Given the description of an element on the screen output the (x, y) to click on. 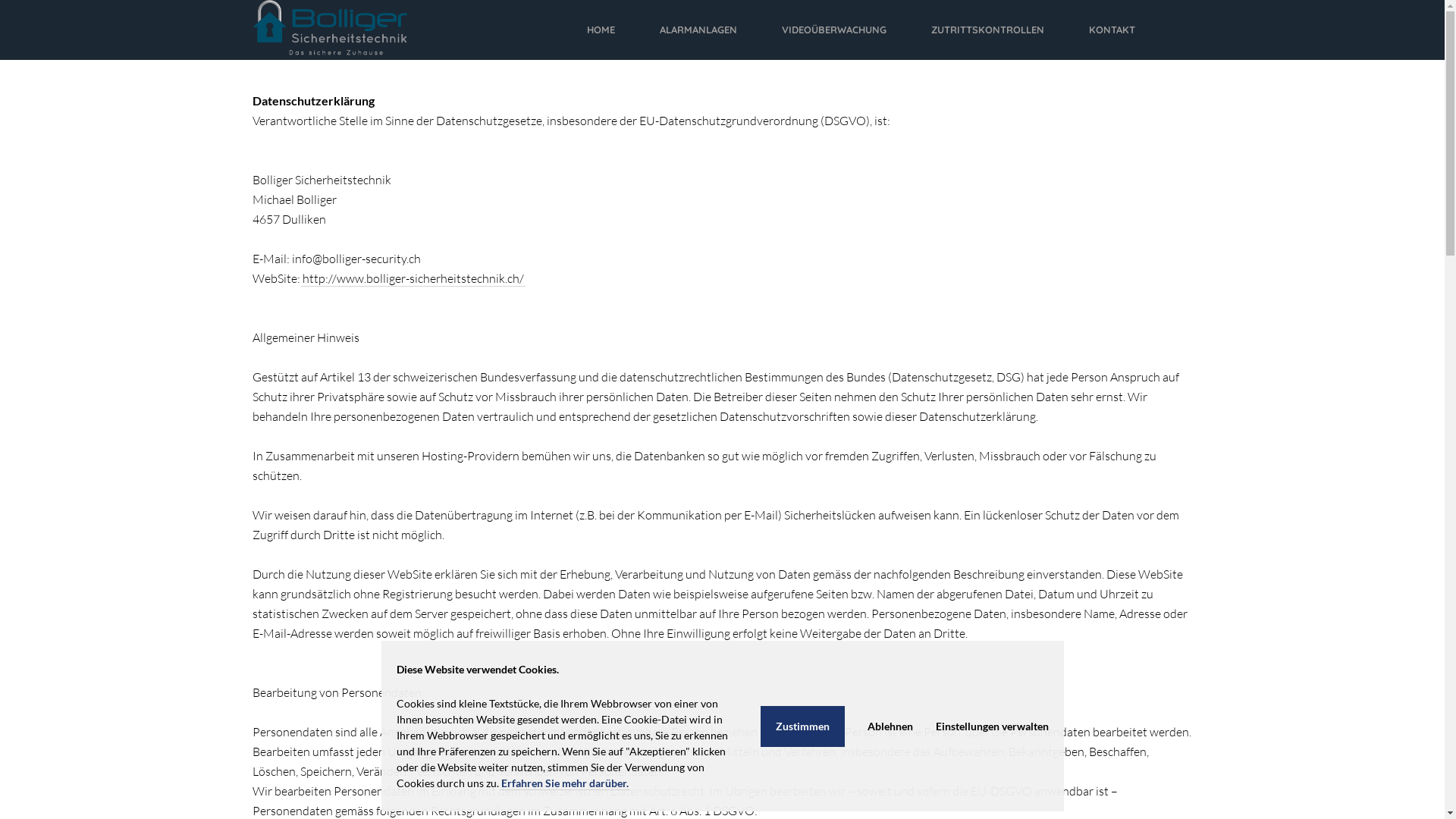
Einstellungen verwalten Element type: text (991, 725)
KONTAKT Element type: text (1111, 29)
ZUTRITTSKONTROLLEN Element type: text (987, 29)
Bolliger Sicherheitstechnik Element type: hover (328, 29)
http://www.bolliger-sicherheitstechnik.ch/ Element type: text (412, 278)
Zustimmen Element type: text (801, 725)
HOME Element type: text (600, 29)
Ablehnen Element type: text (890, 725)
ALARMANLAGEN Element type: text (698, 29)
